Given the description of an element on the screen output the (x, y) to click on. 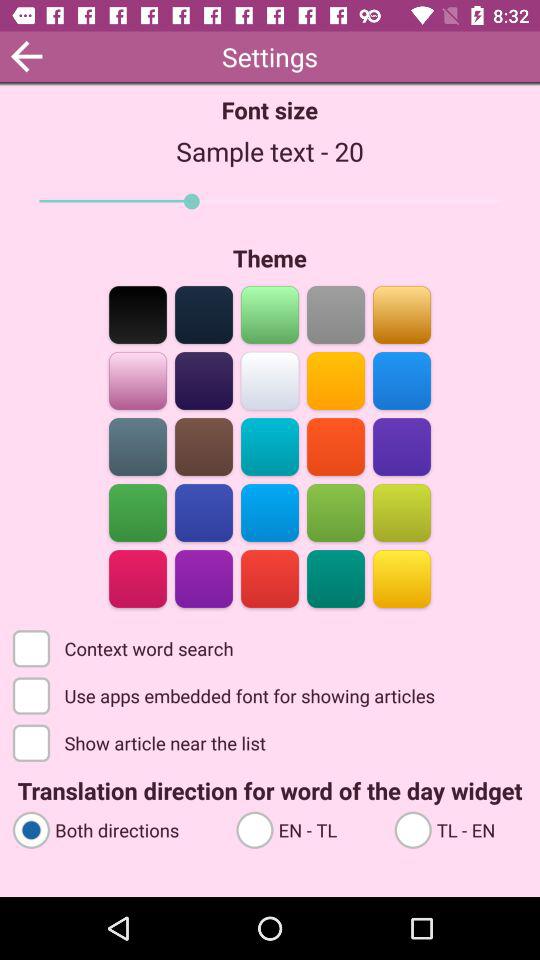
flip to the show article near icon (141, 741)
